Given the description of an element on the screen output the (x, y) to click on. 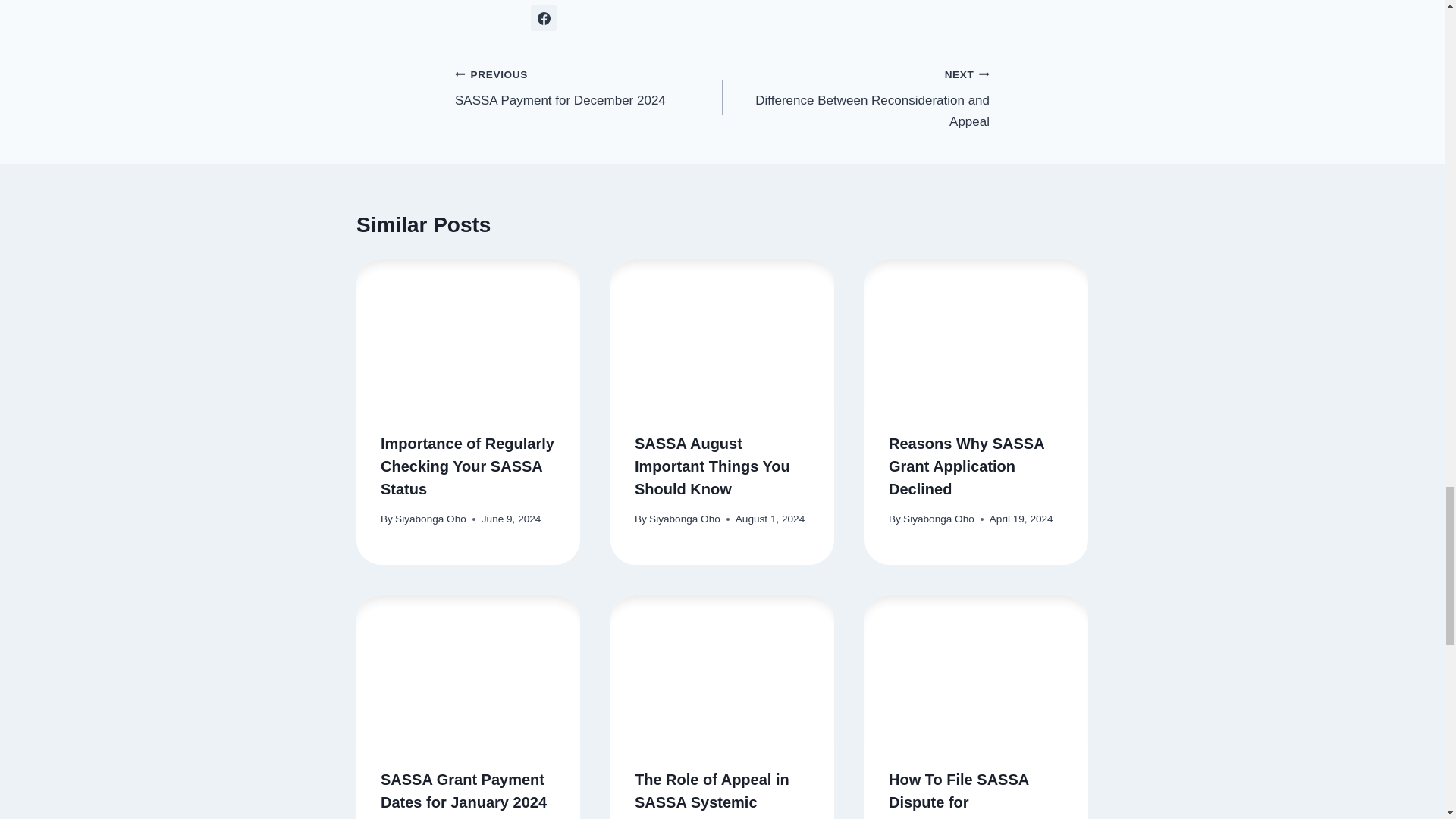
SASSA August Important Things You Should Know (712, 465)
Follow Siyabonga Oho on Facebook (543, 17)
Siyabonga Oho (429, 518)
Importance of Regularly Checking Your SASSA Status (856, 97)
Siyabonga Oho (588, 87)
